Given the description of an element on the screen output the (x, y) to click on. 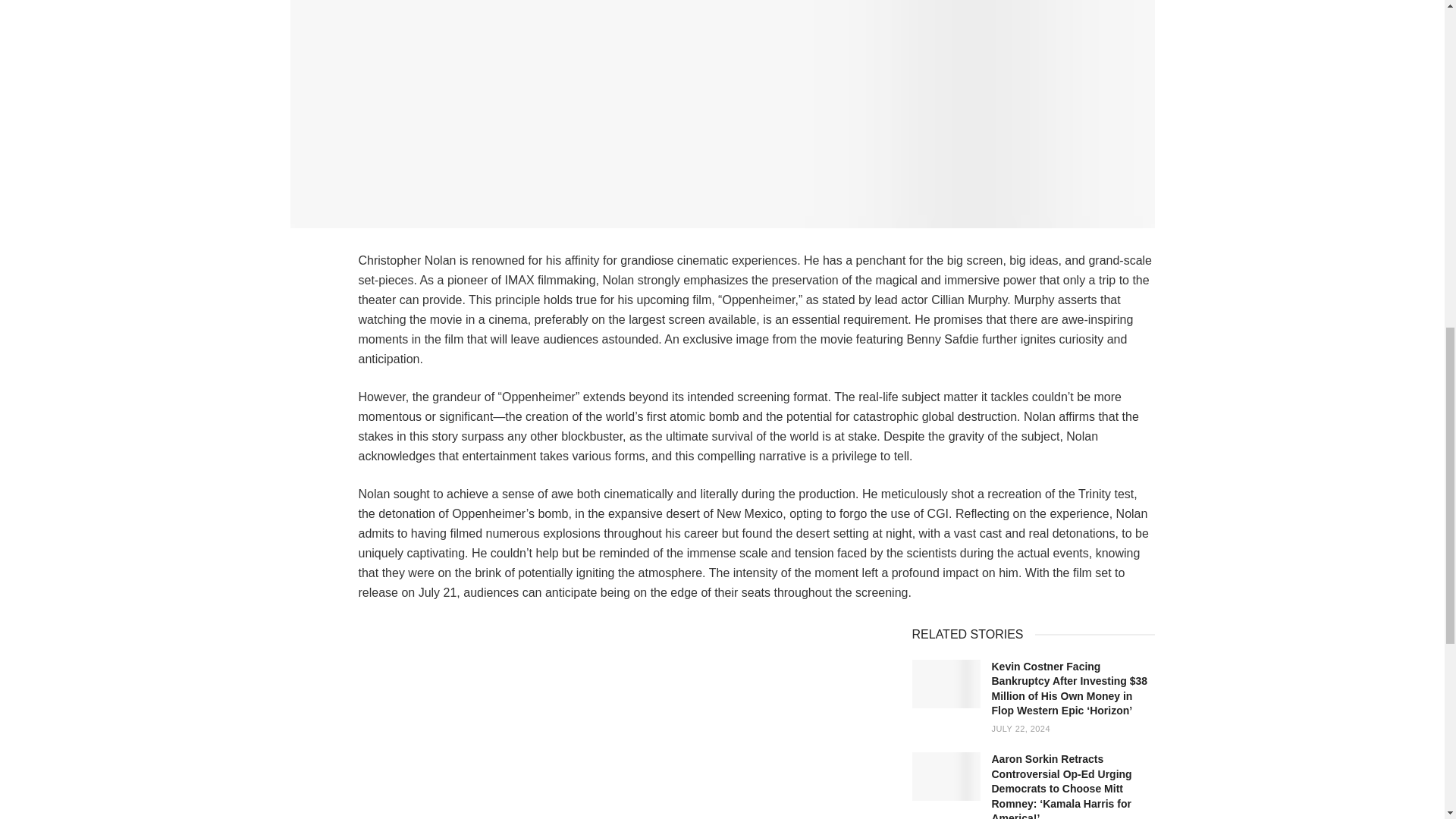
JULY 22, 2024 (1020, 728)
